Given the description of an element on the screen output the (x, y) to click on. 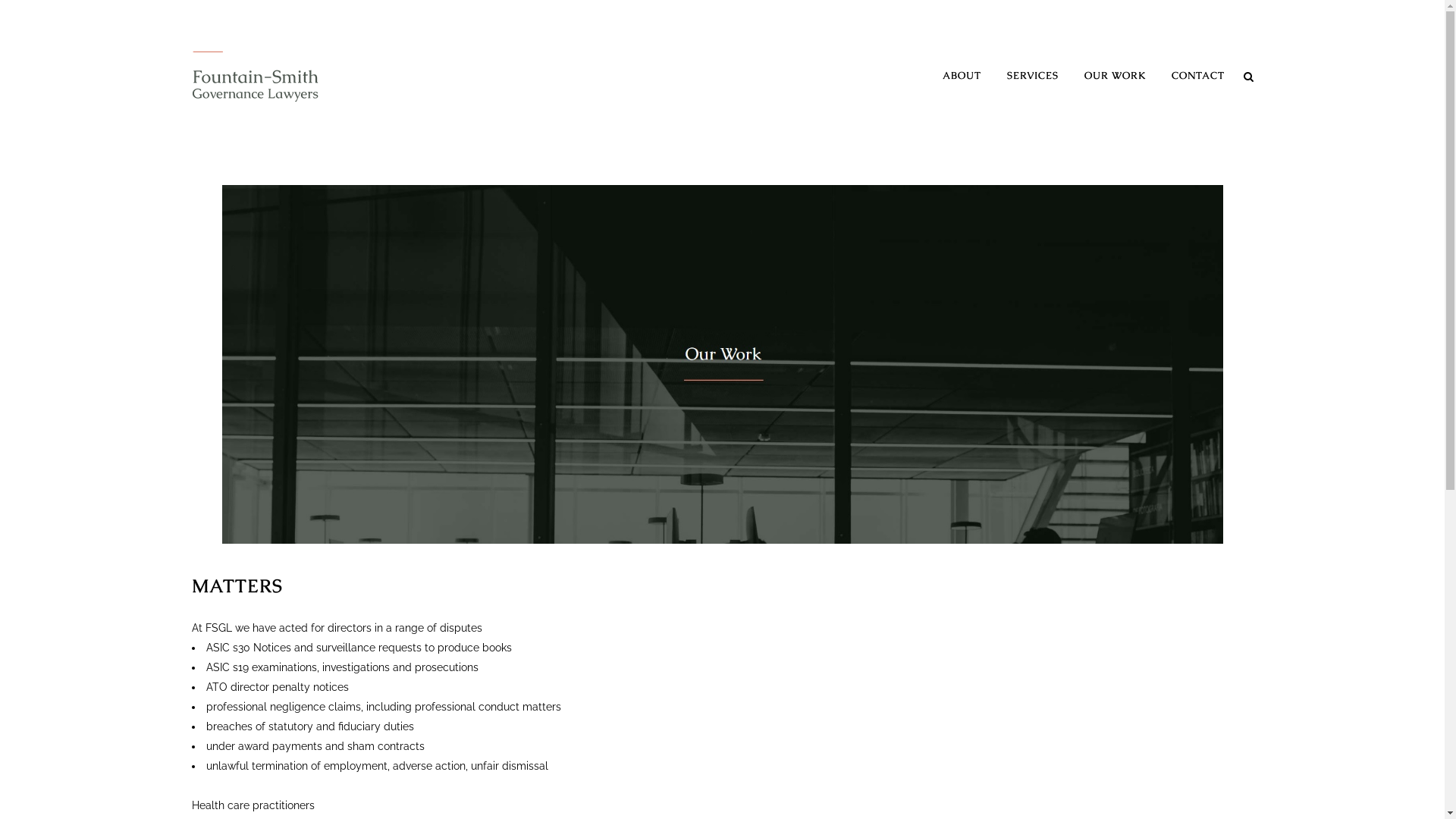
SERVICES Element type: text (1031, 75)
OUR WORK Element type: text (1113, 75)
CONTACT Element type: text (1197, 75)
ABOUT Element type: text (961, 75)
